Given the description of an element on the screen output the (x, y) to click on. 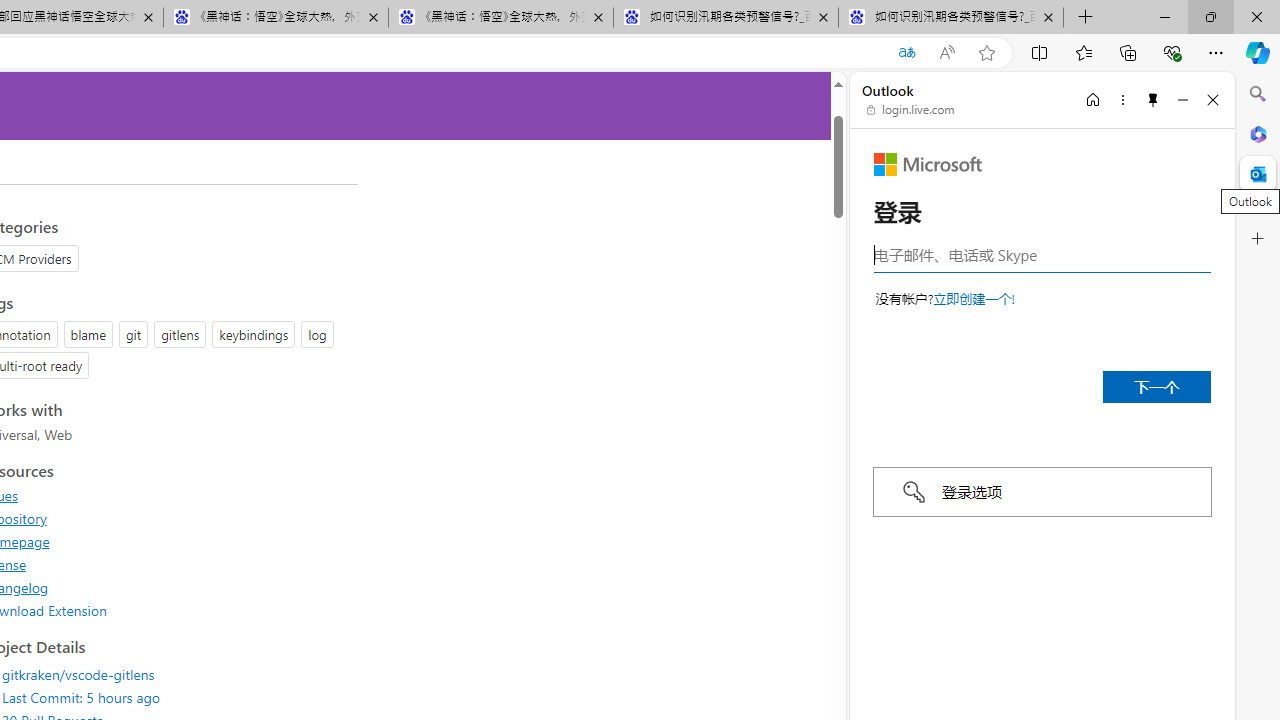
Microsoft (927, 164)
